Given the description of an element on the screen output the (x, y) to click on. 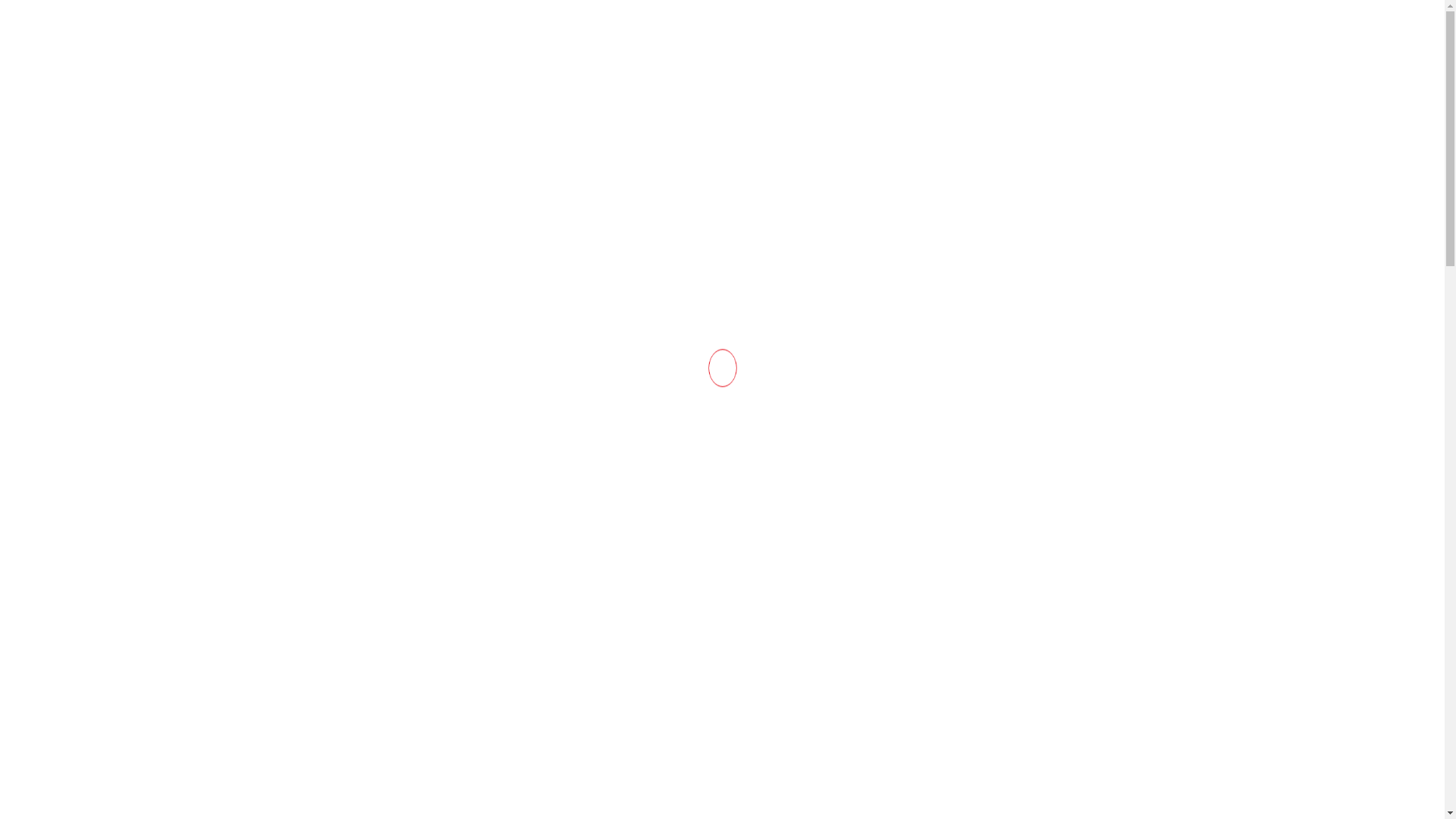
Book Appointment Element type: text (1124, 145)
Home Element type: text (604, 203)
Smoking Cessation Element type: hover (564, 481)
First Visit Element type: text (652, 145)
Our Services Element type: text (442, 145)
Massage Element type: text (996, 499)
Acupuncture Element type: hover (927, 658)
Physiotherapy Element type: text (1014, 355)
Contact Us Element type: text (838, 145)
Conditions Element type: text (555, 145)
Orthotics Element type: hover (927, 586)
Tens Therapy Element type: hover (927, 730)
Acupuncture Element type: text (1009, 643)
Massage Element type: hover (927, 514)
Chiropractic Element type: hover (927, 442)
Orthotics Element type: text (997, 571)
Chiropractic Element type: text (1008, 427)
About us Element type: text (339, 145)
Home Element type: text (263, 145)
info@alphaphysio.ca Element type: text (325, 19)
Locations Element type: text (741, 145)
Physiotherapy Element type: hover (927, 370)
Tens Therapy Element type: text (1011, 715)
905.789.0123 Element type: text (732, 85)
Hand Therapy Element type: text (1012, 787)
